Given the description of an element on the screen output the (x, y) to click on. 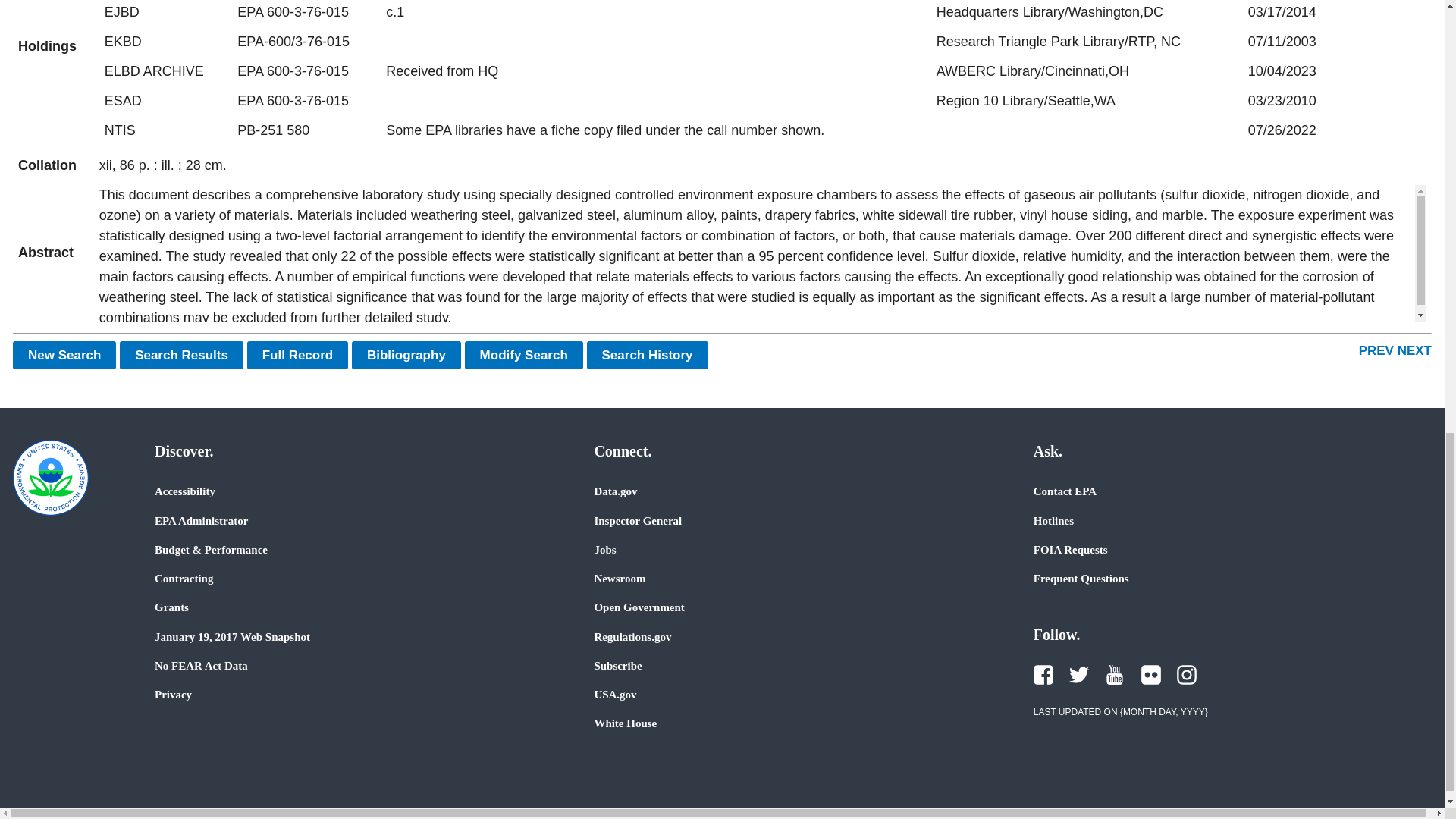
New Search (64, 355)
Create a New Search (64, 355)
Show results in standard format (181, 355)
Full Record (298, 355)
Search History (646, 355)
Modify Search (523, 355)
Bibliography (406, 355)
Search Results (181, 355)
Display Full Record (298, 355)
